Given the description of an element on the screen output the (x, y) to click on. 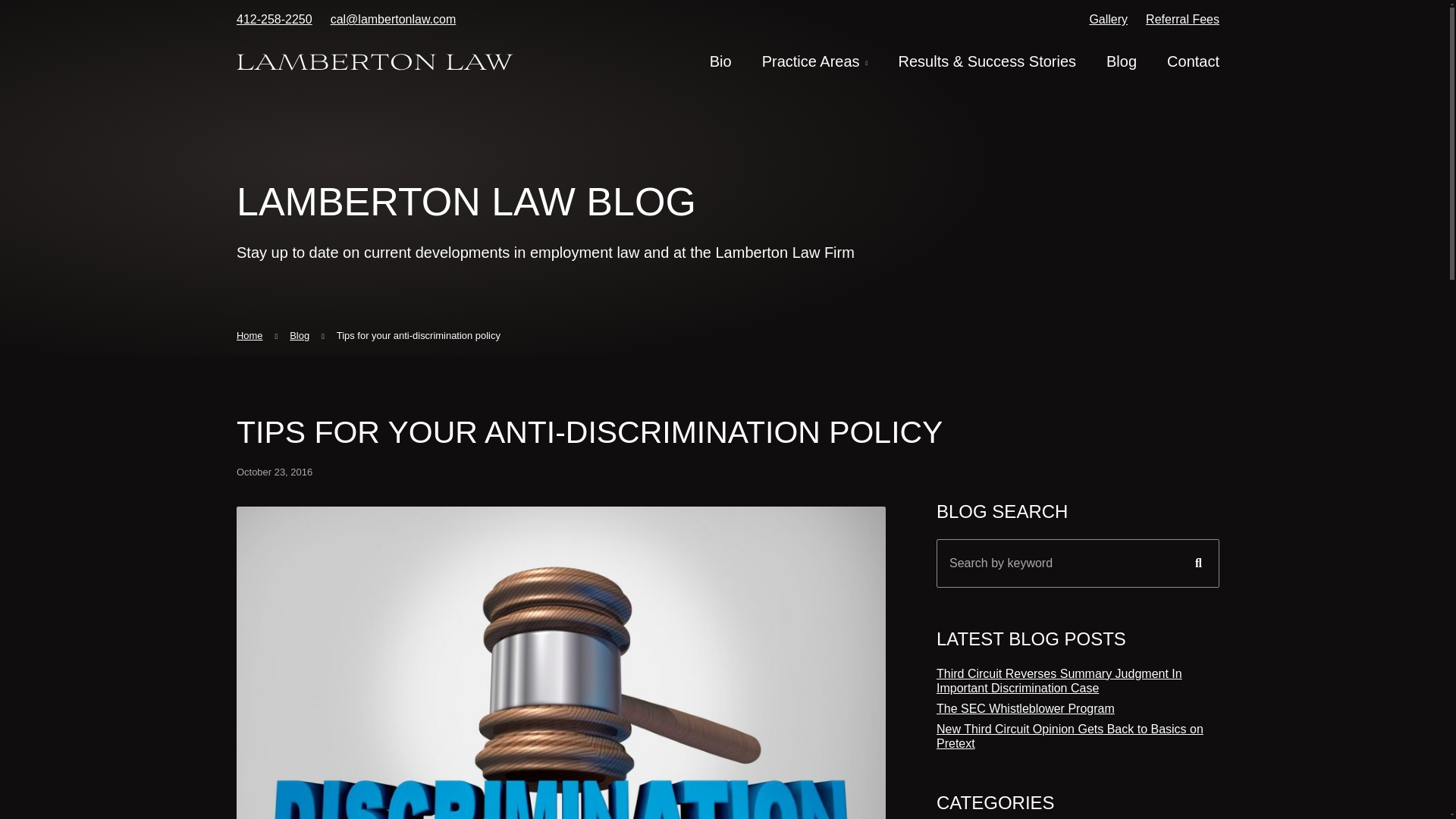
Home (249, 335)
New Third Circuit Opinion Gets Back to Basics on Pretext (1070, 736)
412-258-2250 (274, 19)
Contact (1193, 60)
Practice Areas (812, 60)
Lamberton Law Firm (374, 60)
Blog (1121, 60)
Referral Fees (1182, 19)
The SEC Whistleblower Program (1025, 707)
Gallery (1107, 19)
